Given the description of an element on the screen output the (x, y) to click on. 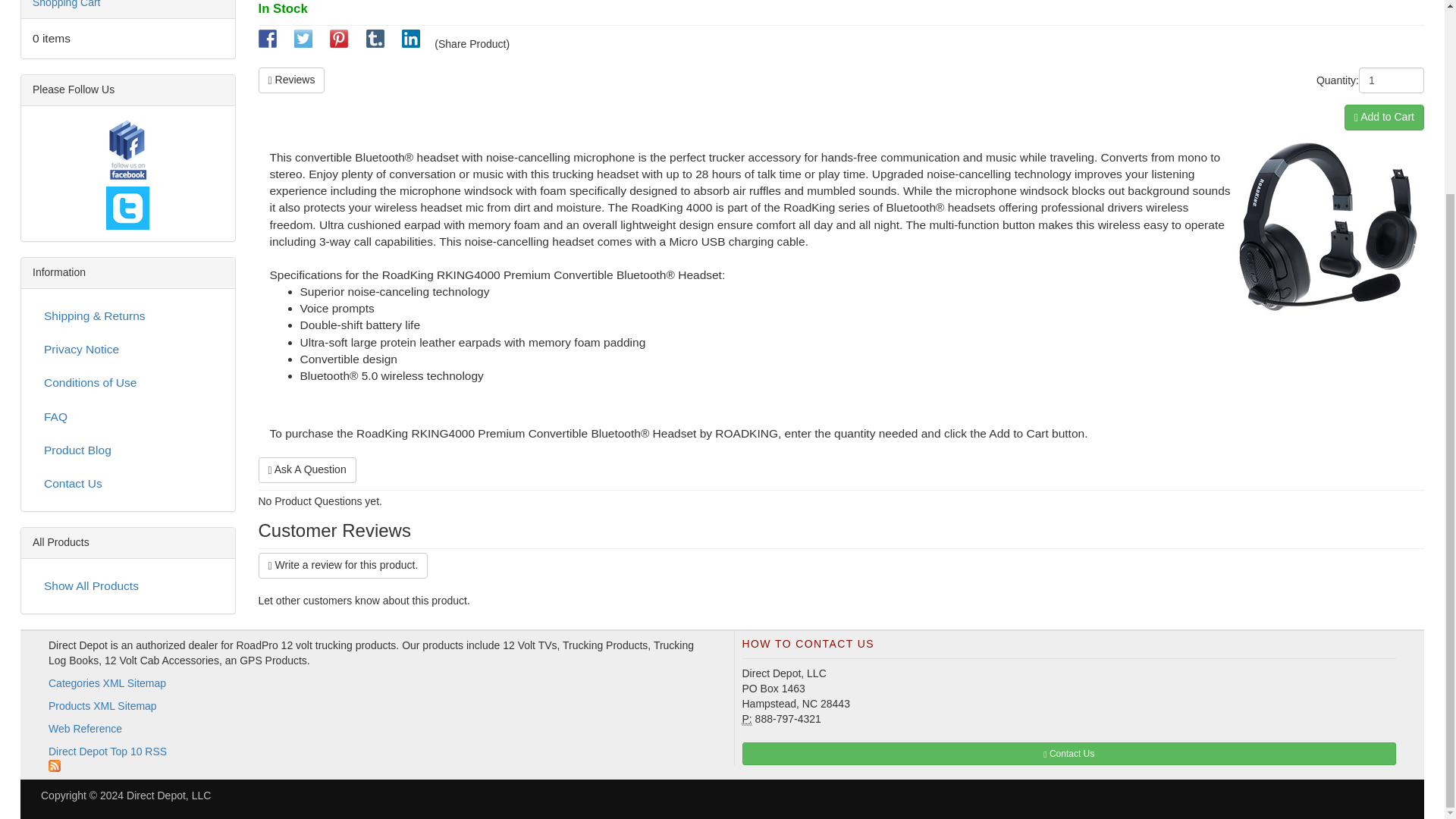
Categories XML Sitemap (106, 683)
Product Blog (128, 450)
Direct Depot Top 25 Viewed Products RSS Feed (54, 766)
Privacy Notice (128, 349)
Share on Facebook (266, 43)
Products XML Site MAP (102, 705)
Web References (85, 728)
Categories XML Site Map (106, 683)
Share on linkedin (410, 43)
Shopping Cart (66, 4)
Facebook (127, 151)
Phone (746, 718)
Twitter (127, 208)
Show All Trucking Products (128, 585)
RSS (375, 758)
